Given the description of an element on the screen output the (x, y) to click on. 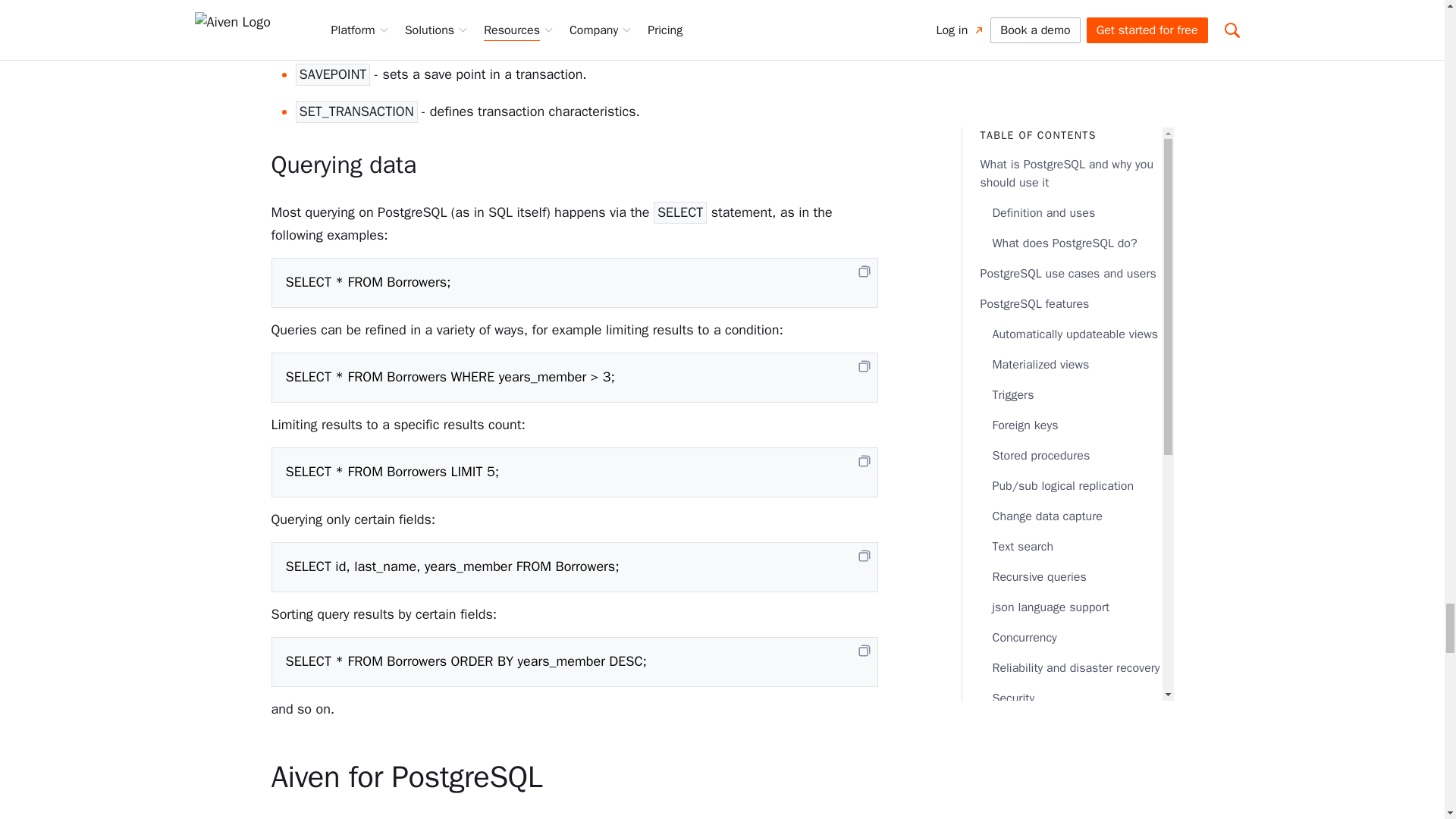
Copy to clipboard (863, 555)
Copy to clipboard (863, 366)
Copy to clipboard (863, 271)
Copy to clipboard (863, 460)
Copy to clipboard (863, 650)
